Given the description of an element on the screen output the (x, y) to click on. 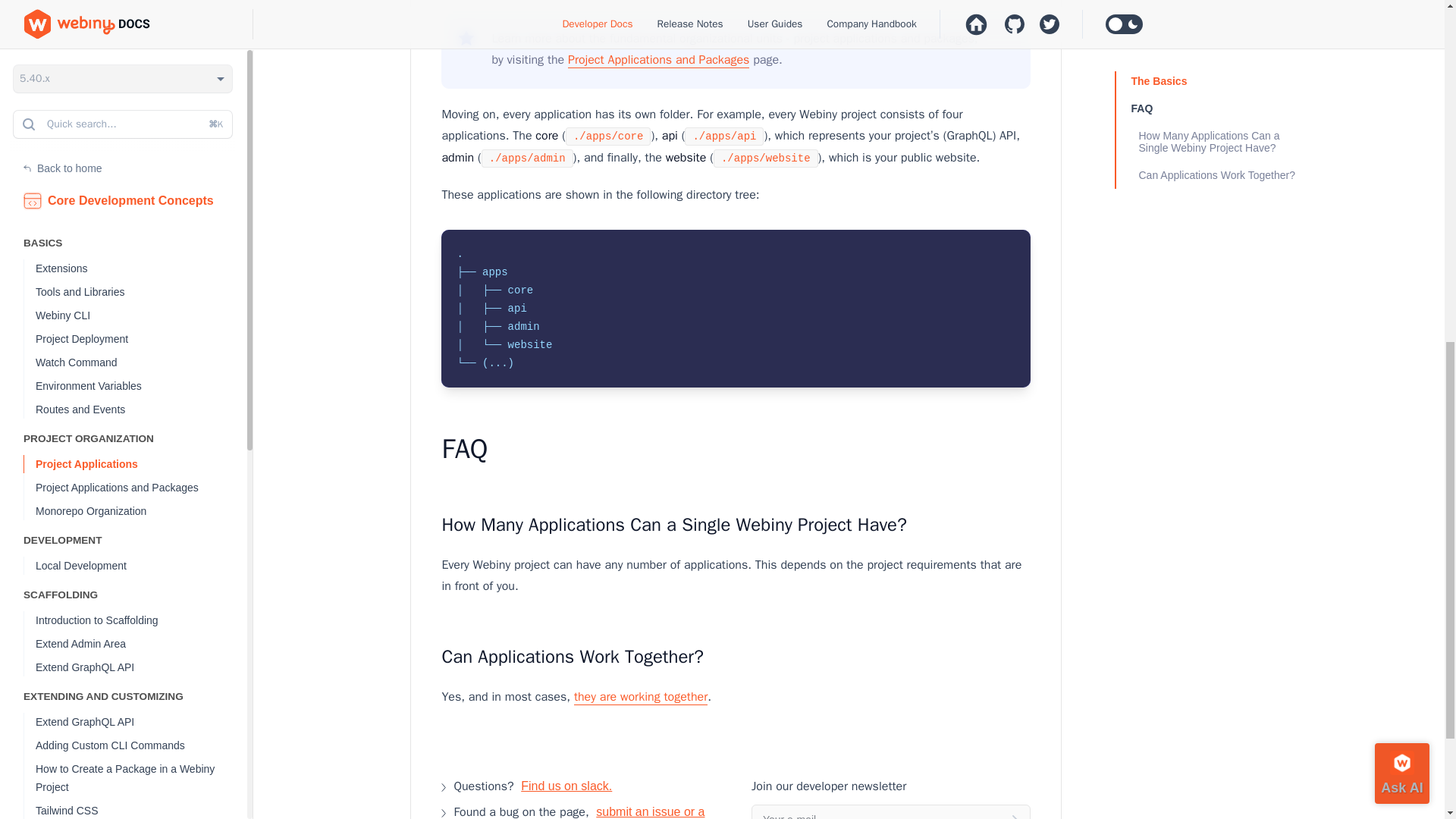
Adding Custom CLI Commands (140, 62)
How To Change Elasticsearch Index Name To Contain Locale (140, 183)
Introduction (140, 359)
Adding Custom Route to Existing Webiny Lambda (140, 225)
Lexical Tools (140, 304)
Managing Environments (140, 382)
Intercepting the Request (140, 280)
How to Create a Package in a Webiny Project (140, 94)
Extend GraphQL API (140, 38)
Customizing the Error Output (140, 257)
How To Customize Elasticsearch Index (140, 150)
Tailwind CSS (140, 126)
